Given the description of an element on the screen output the (x, y) to click on. 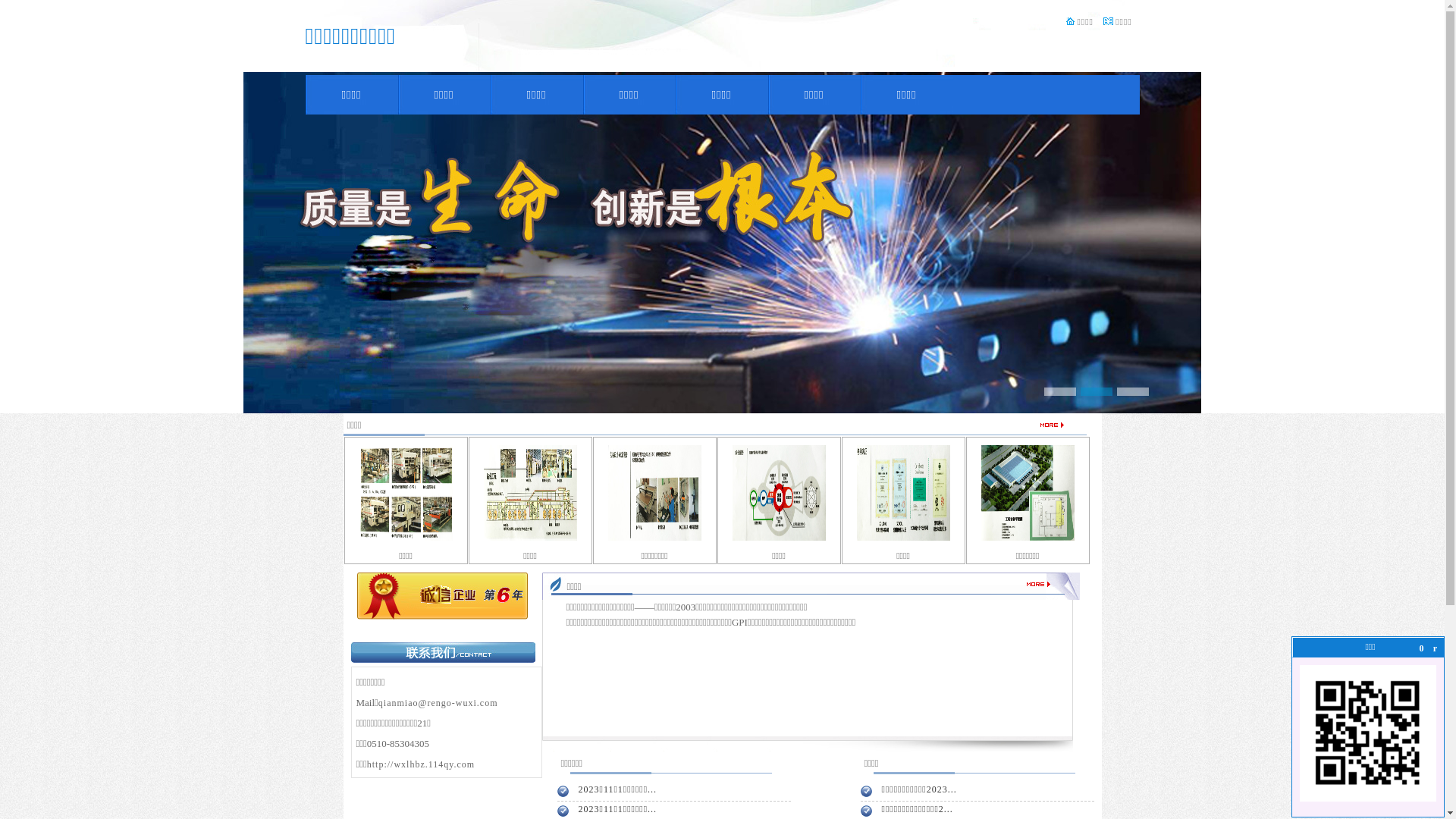
qianmiao@rengo-wuxi.com Element type: text (438, 702)
r Element type: text (1435, 648)
http://wxlhbz.114qy.com Element type: text (420, 764)
0 Element type: text (1421, 648)
